Given the description of an element on the screen output the (x, y) to click on. 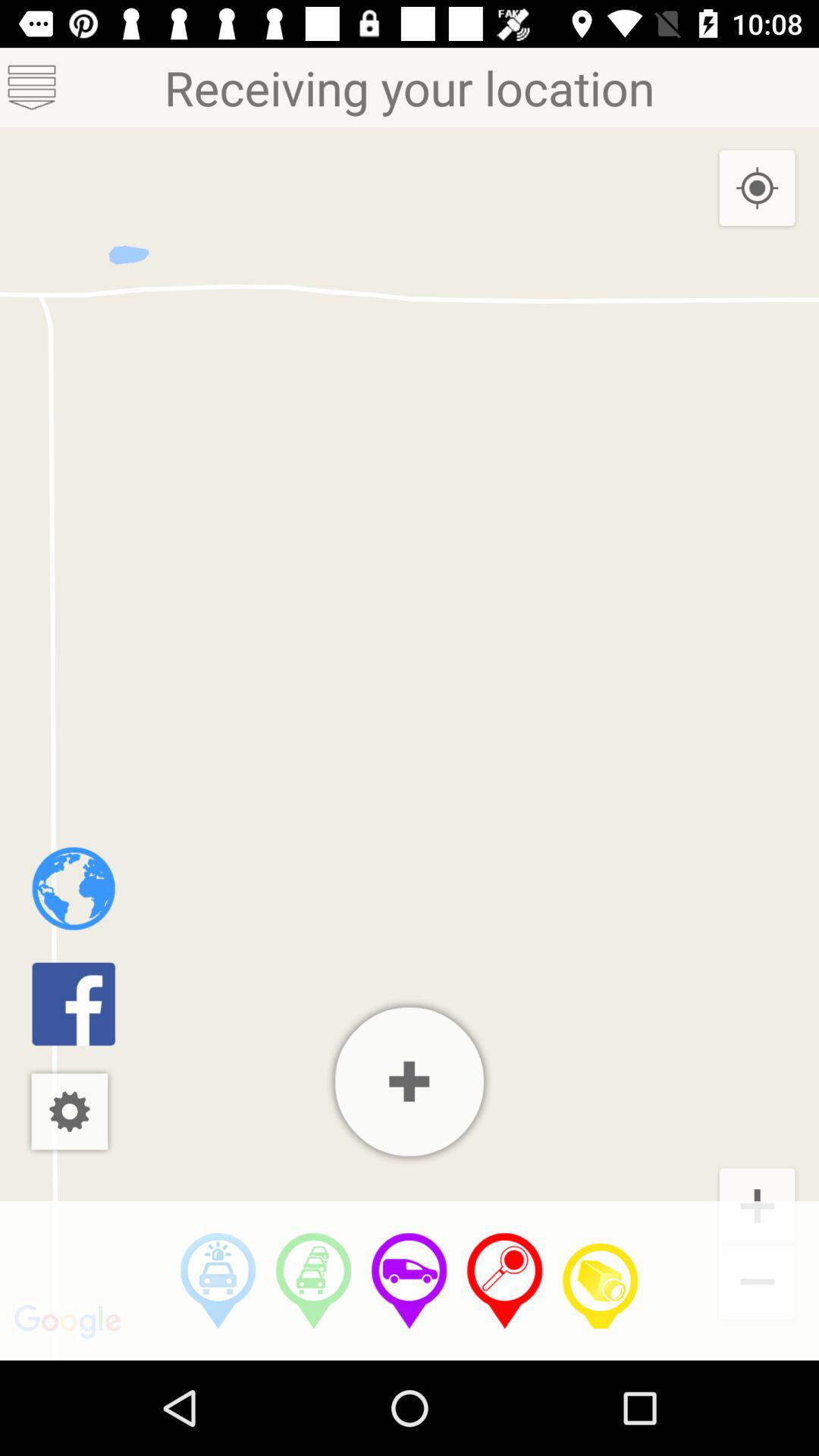
button to receive your location (504, 1280)
